Given the description of an element on the screen output the (x, y) to click on. 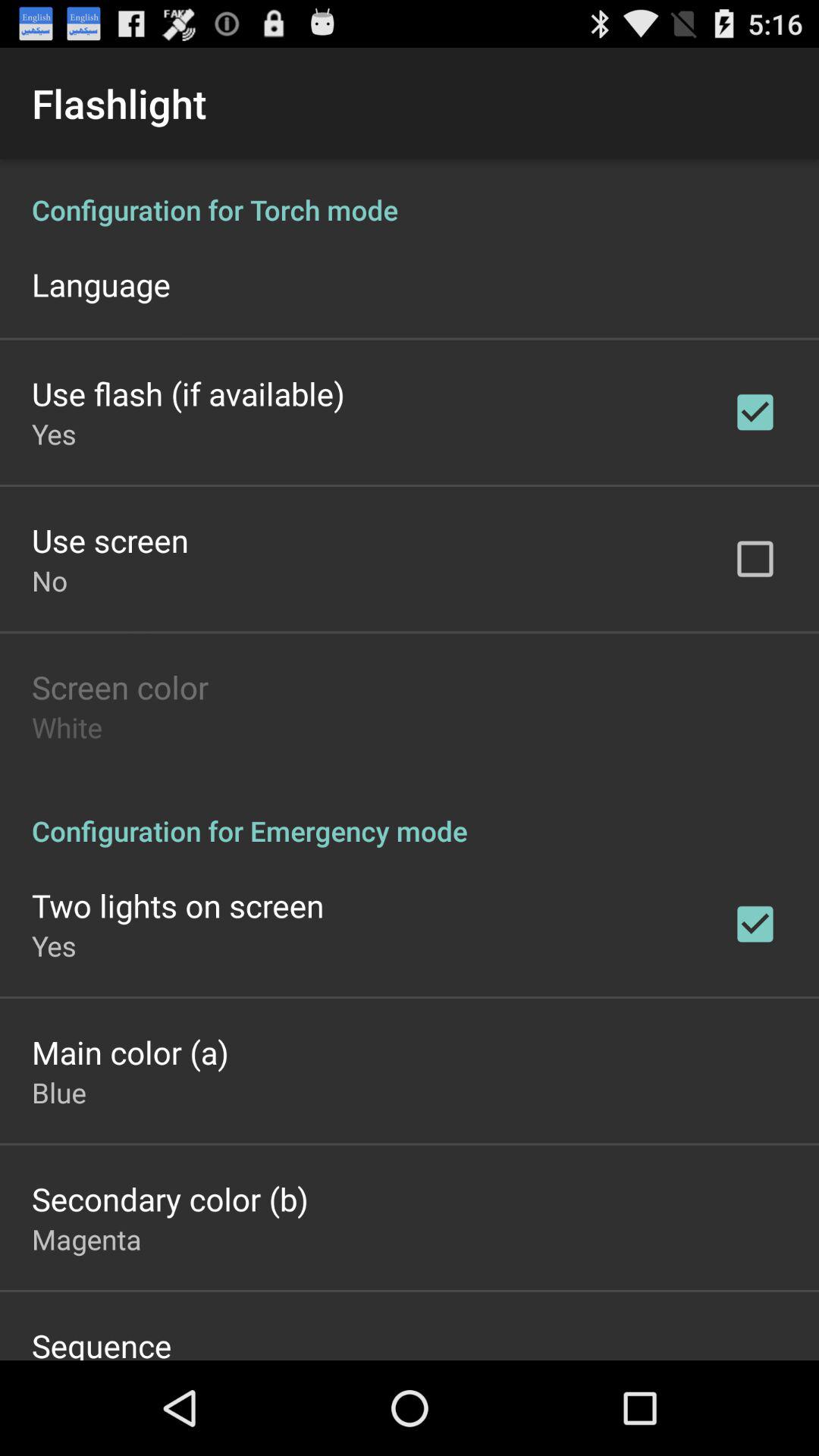
swipe until the language (100, 283)
